Given the description of an element on the screen output the (x, y) to click on. 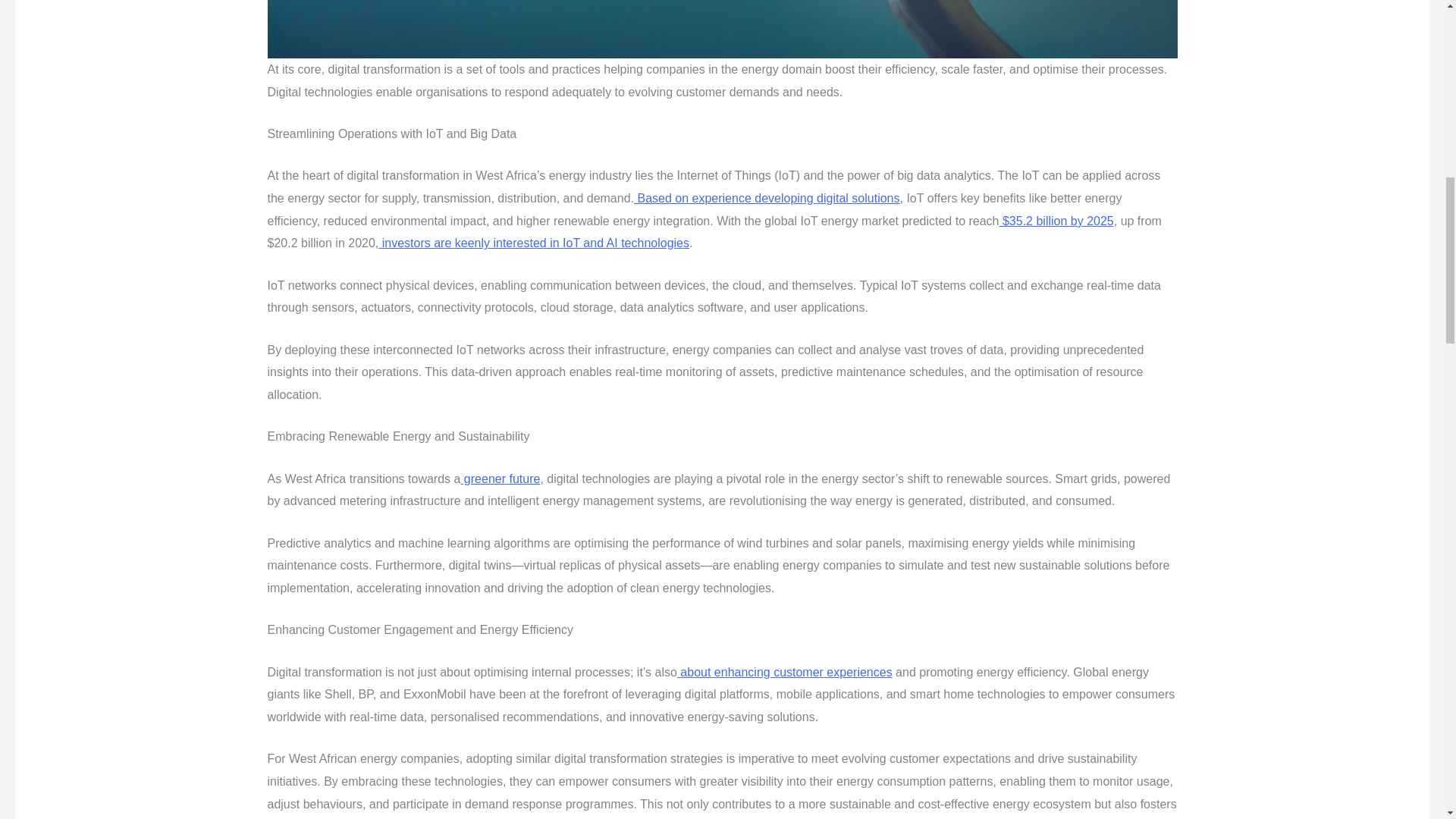
Based on experience developing digital solutions (766, 197)
greener future (500, 478)
about enhancing customer experiences (784, 671)
investors are keenly interested in IoT and AI technologies (533, 242)
